Given the description of an element on the screen output the (x, y) to click on. 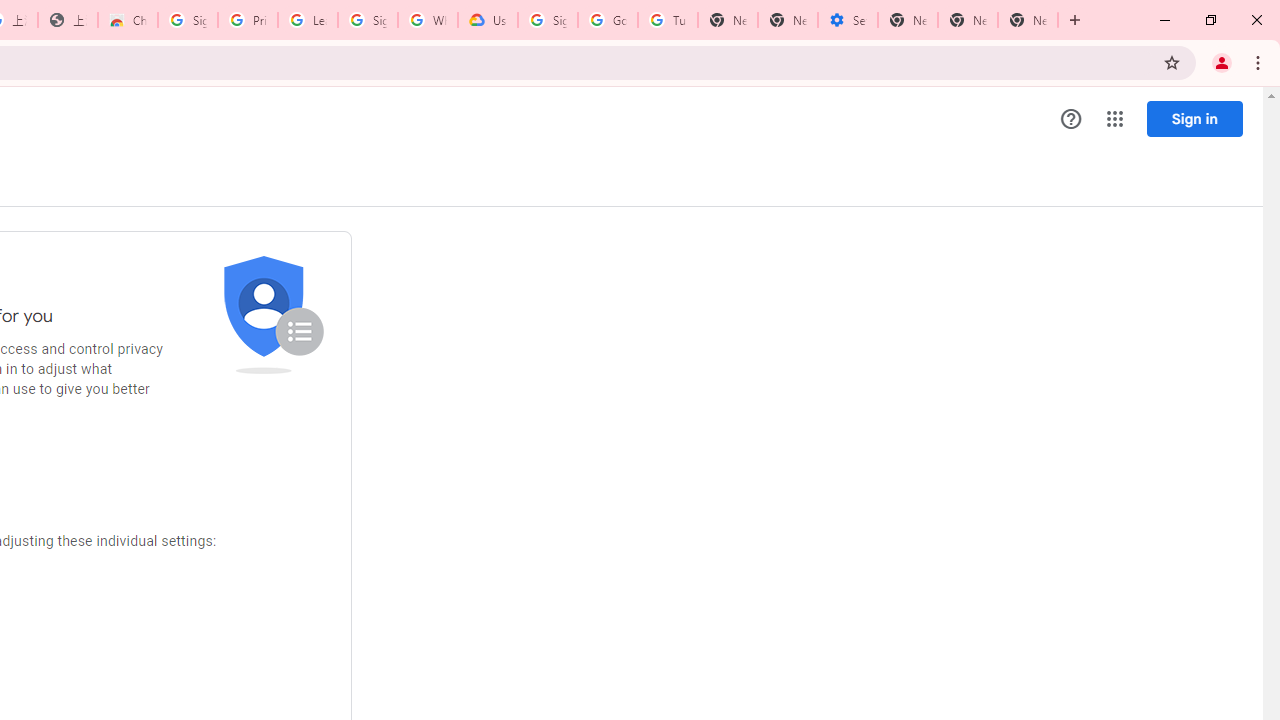
New Tab (908, 20)
Chrome Web Store (127, 20)
Turn cookies on or off - Computer - Google Account Help (667, 20)
Who are Google's partners? - Privacy and conditions - Google (428, 20)
Sign in - Google Accounts (548, 20)
Sign in (1194, 118)
Google Account Help (607, 20)
